Given the description of an element on the screen output the (x, y) to click on. 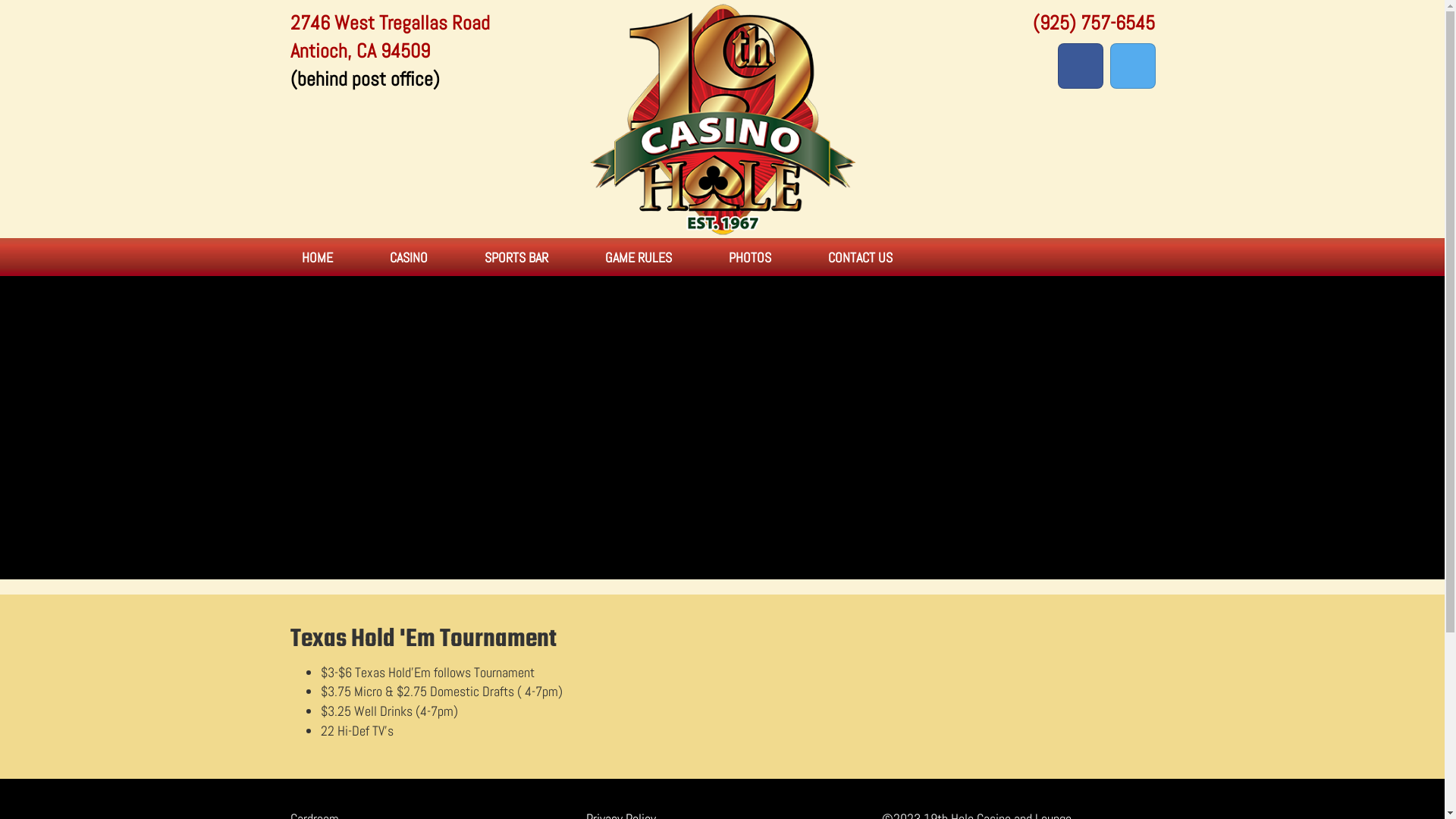
Antioch, CA 94509 Element type: text (359, 50)
HOME Element type: text (316, 261)
PHOTOS Element type: text (749, 261)
SPORTS BAR Element type: text (515, 261)
CONTACT US Element type: text (860, 261)
GAME RULES Element type: text (638, 261)
2746 West Tregallas Road Element type: text (389, 22)
CASINO Element type: text (408, 261)
